Given the description of an element on the screen output the (x, y) to click on. 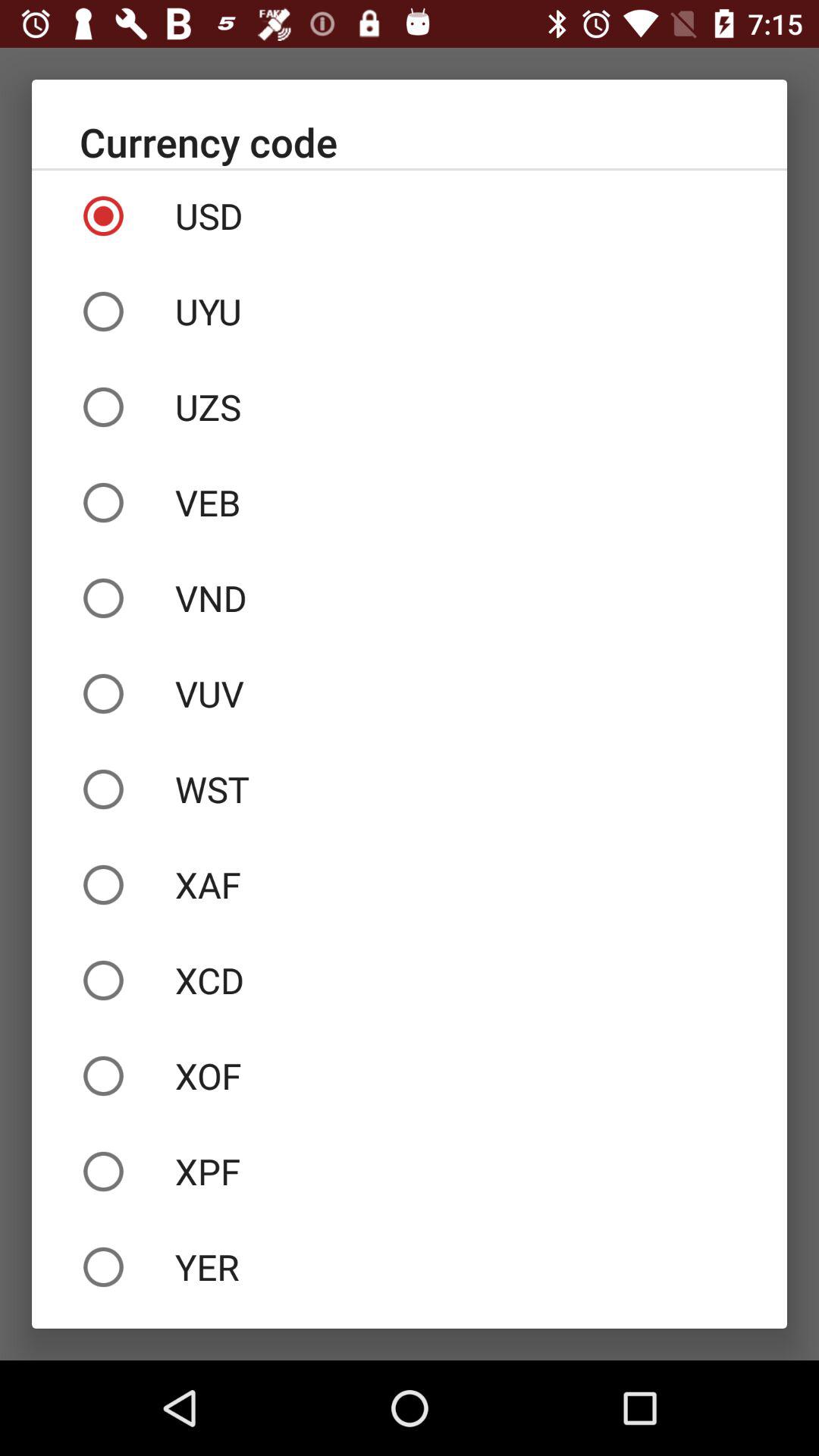
open the xof icon (409, 1075)
